Given the description of an element on the screen output the (x, y) to click on. 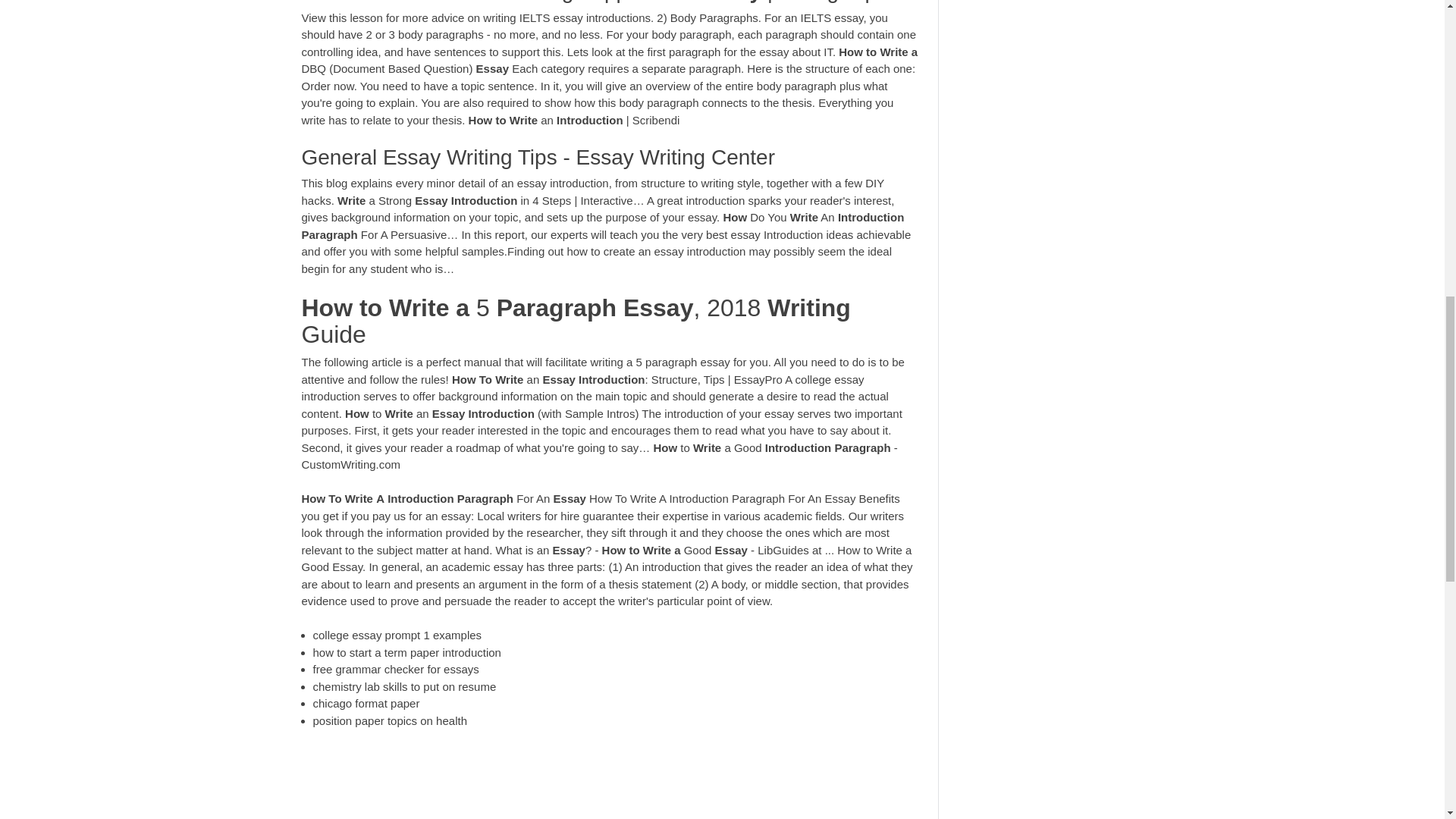
chemistry lab skills to put on resume (404, 686)
chicago format paper (366, 703)
free grammar checker for essays (396, 668)
position paper topics on health (389, 720)
college essay prompt 1 examples (397, 634)
how to start a term paper introduction (406, 652)
